Given the description of an element on the screen output the (x, y) to click on. 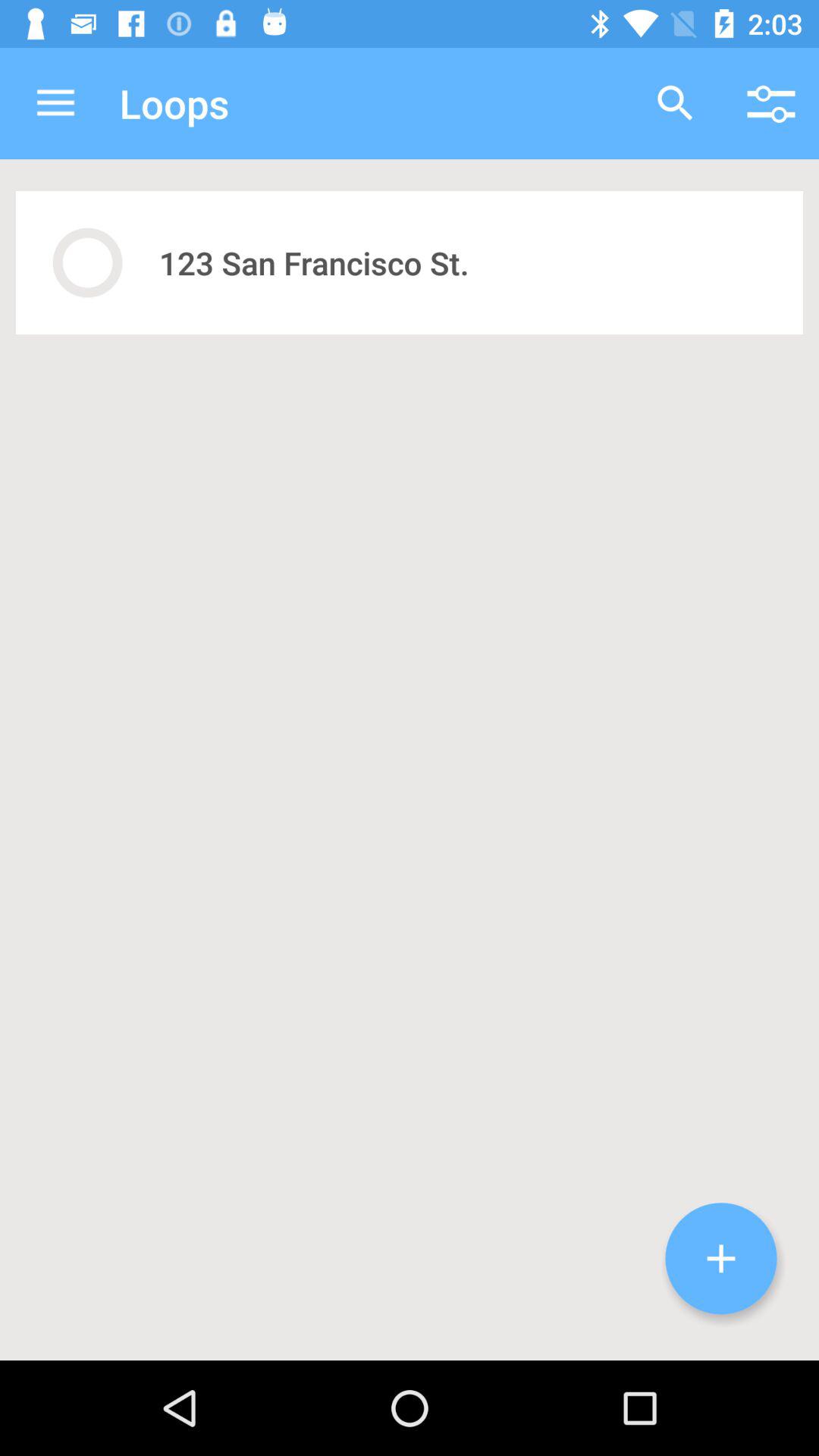
turn off icon above the 123 san francisco icon (771, 103)
